Given the description of an element on the screen output the (x, y) to click on. 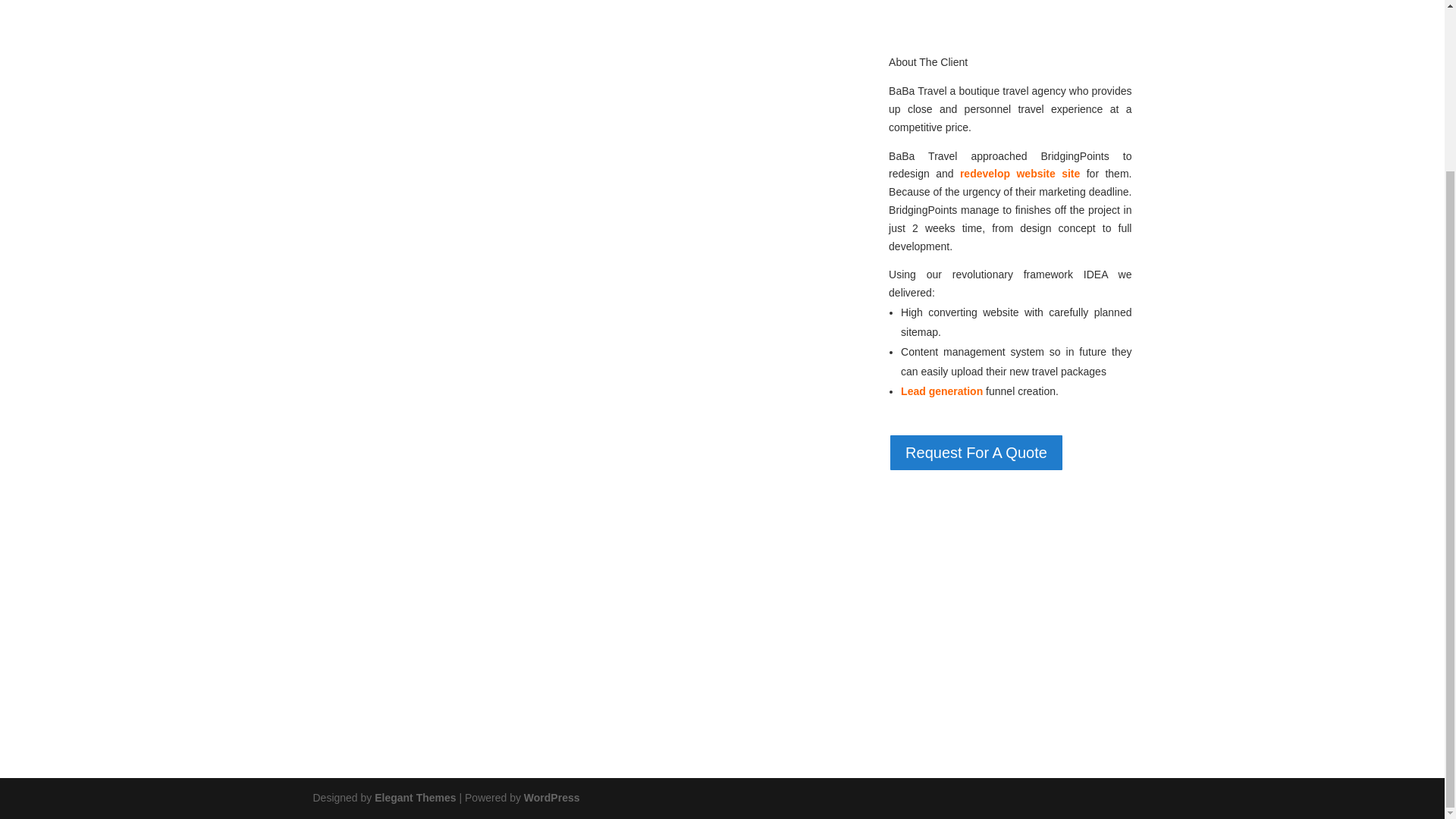
redevelop website site (1022, 173)
Elegant Themes (414, 797)
Request For A Quote (976, 452)
Lead generation (941, 390)
WordPress (551, 797)
Premium WordPress Themes (414, 797)
